Given the description of an element on the screen output the (x, y) to click on. 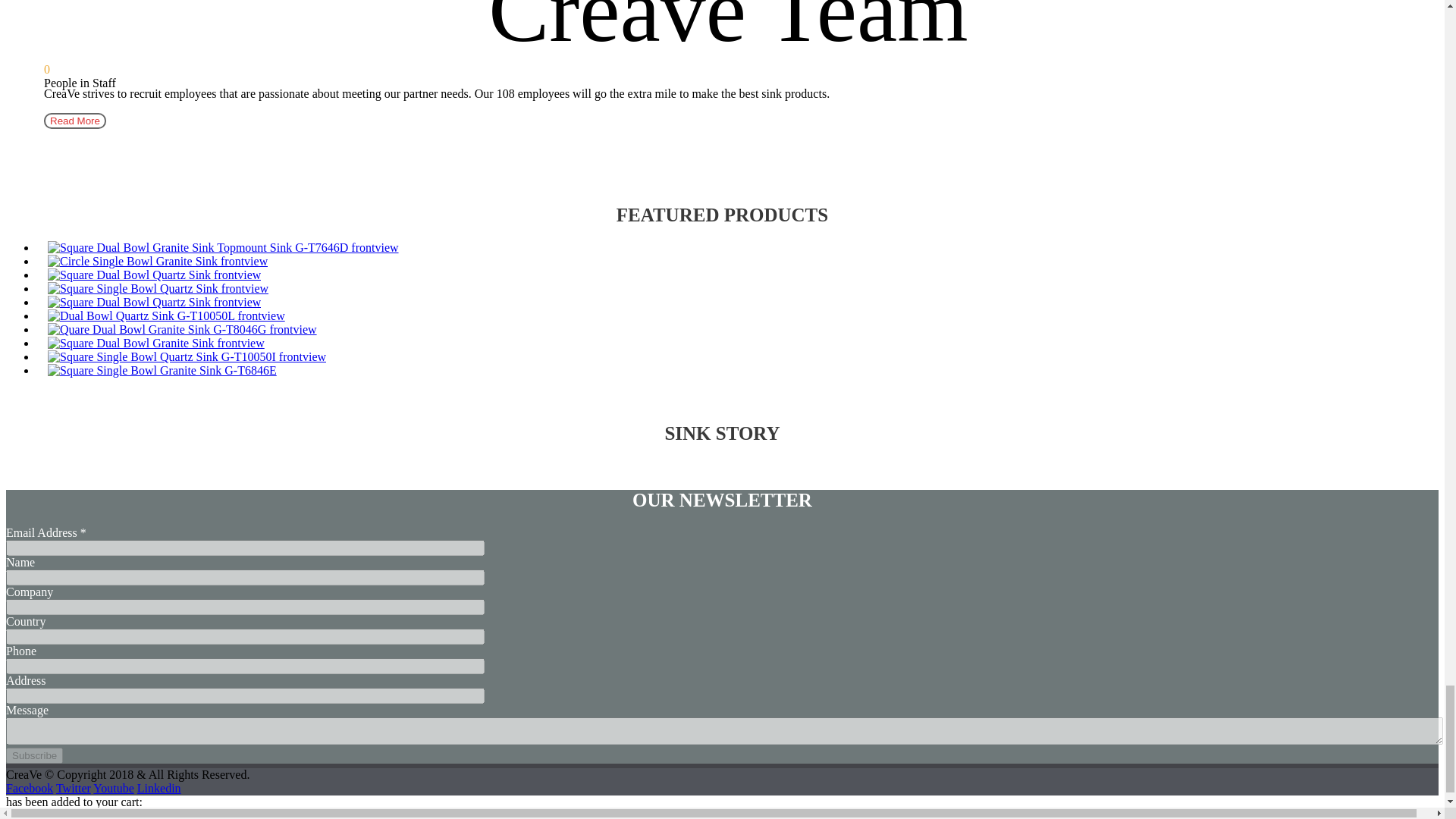
Facebook (28, 788)
Subscribe (33, 755)
Twitter (73, 788)
Read More (74, 120)
Read More (74, 119)
